Given the description of an element on the screen output the (x, y) to click on. 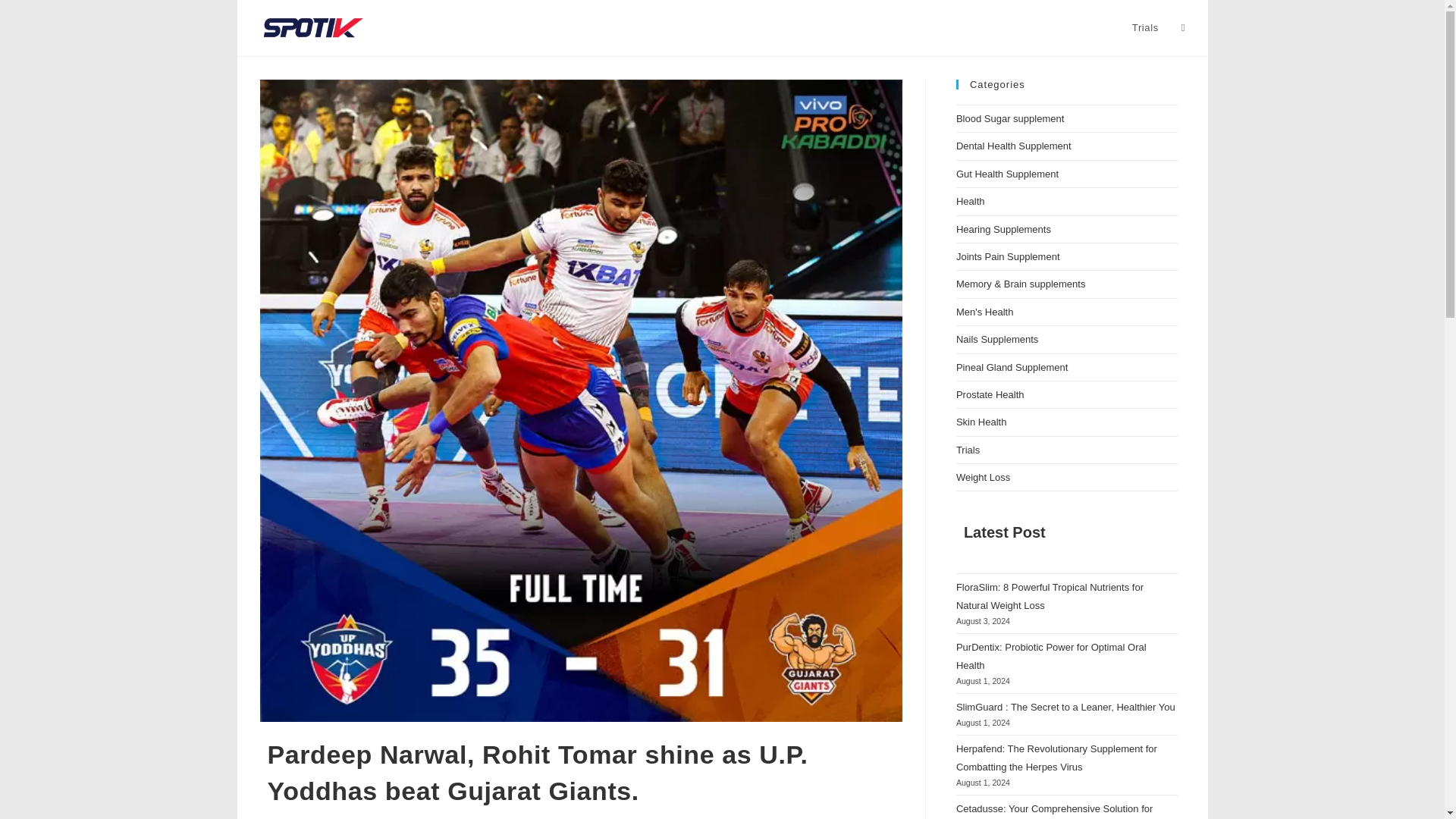
Pineal Gland Supplement (1011, 367)
Health (970, 201)
Gut Health Supplement (1007, 173)
Nails Supplements (997, 338)
Hearing Supplements (1003, 229)
Weight Loss (983, 477)
Trials (967, 449)
Men's Health (984, 311)
SlimGuard : The Secret to a Leaner, Healthier You (1065, 706)
Joints Pain Supplement (1007, 256)
Skin Health (981, 421)
PurDentix: Probiotic Power for Optimal Oral Health (1051, 655)
Dental Health Supplement (1013, 145)
